Given the description of an element on the screen output the (x, y) to click on. 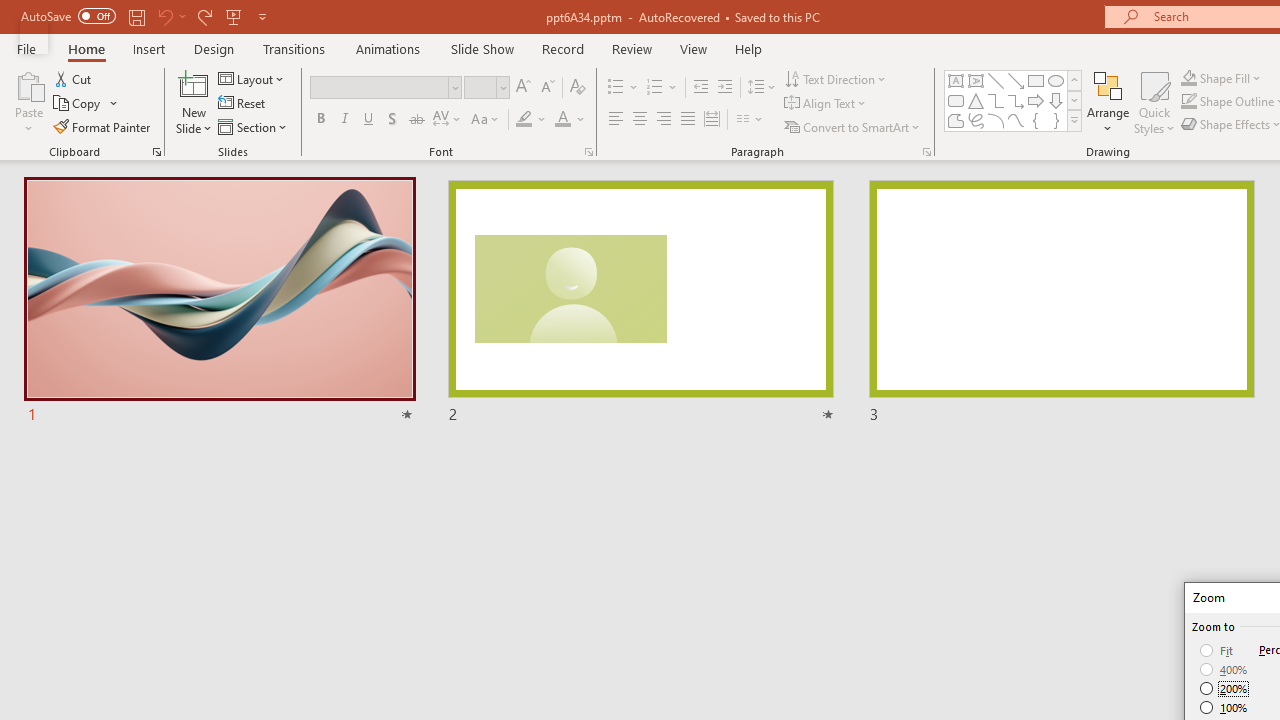
Reset (243, 103)
Line (995, 80)
Arc (995, 120)
Underline (369, 119)
Shape Fill (1188, 78)
Shadow (392, 119)
Curve (1016, 120)
Connector: Elbow Arrow (1016, 100)
Cut (73, 78)
400% (1224, 669)
Decrease Indent (700, 87)
